Given the description of an element on the screen output the (x, y) to click on. 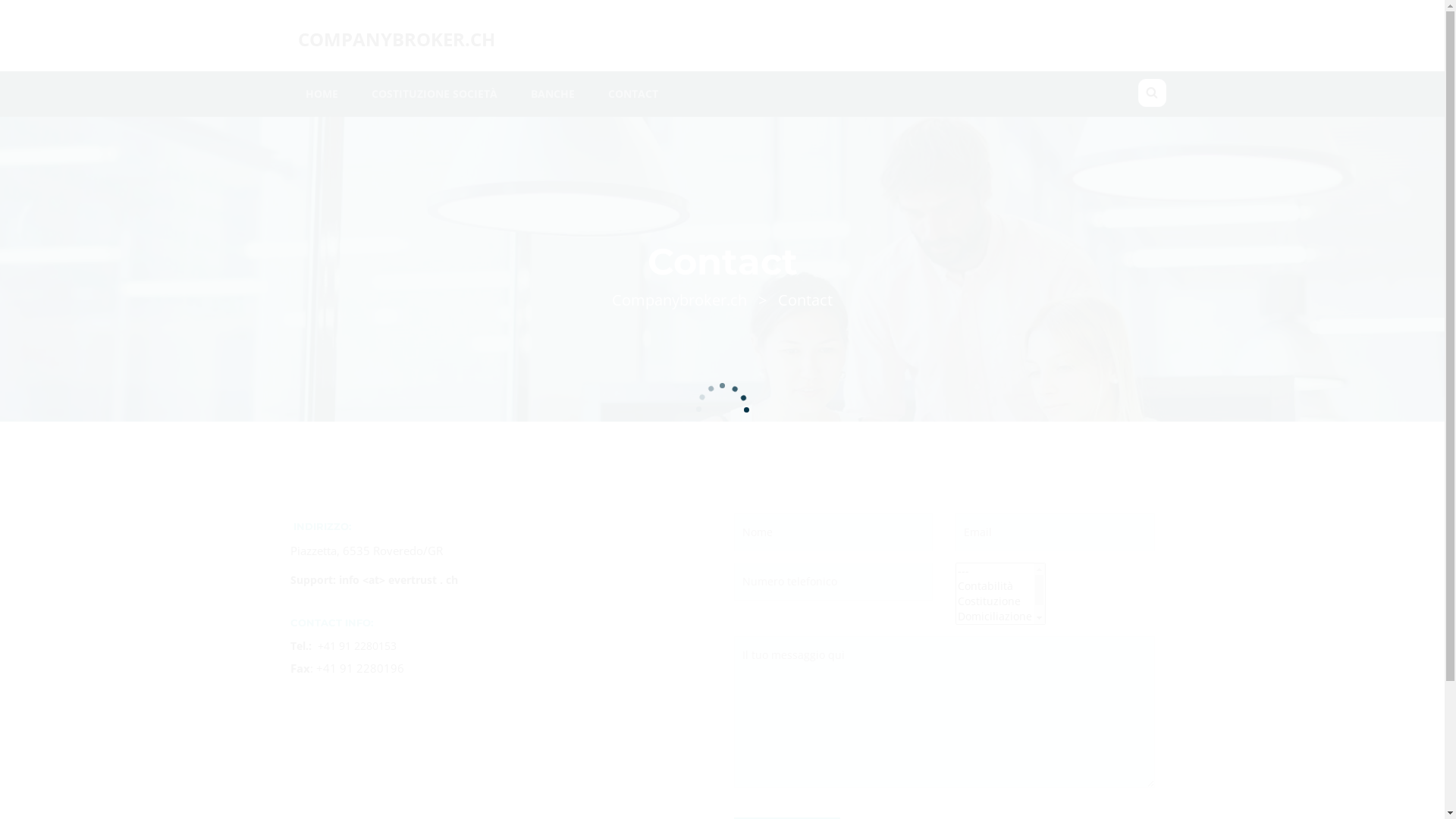
CONTACT Element type: text (633, 93)
Cerca Element type: text (4, 17)
HOME Element type: text (320, 93)
COMPANYBROKER.CH Element type: text (395, 41)
BANCHE Element type: text (552, 93)
Companybroker.ch Element type: text (678, 299)
